Given the description of an element on the screen output the (x, y) to click on. 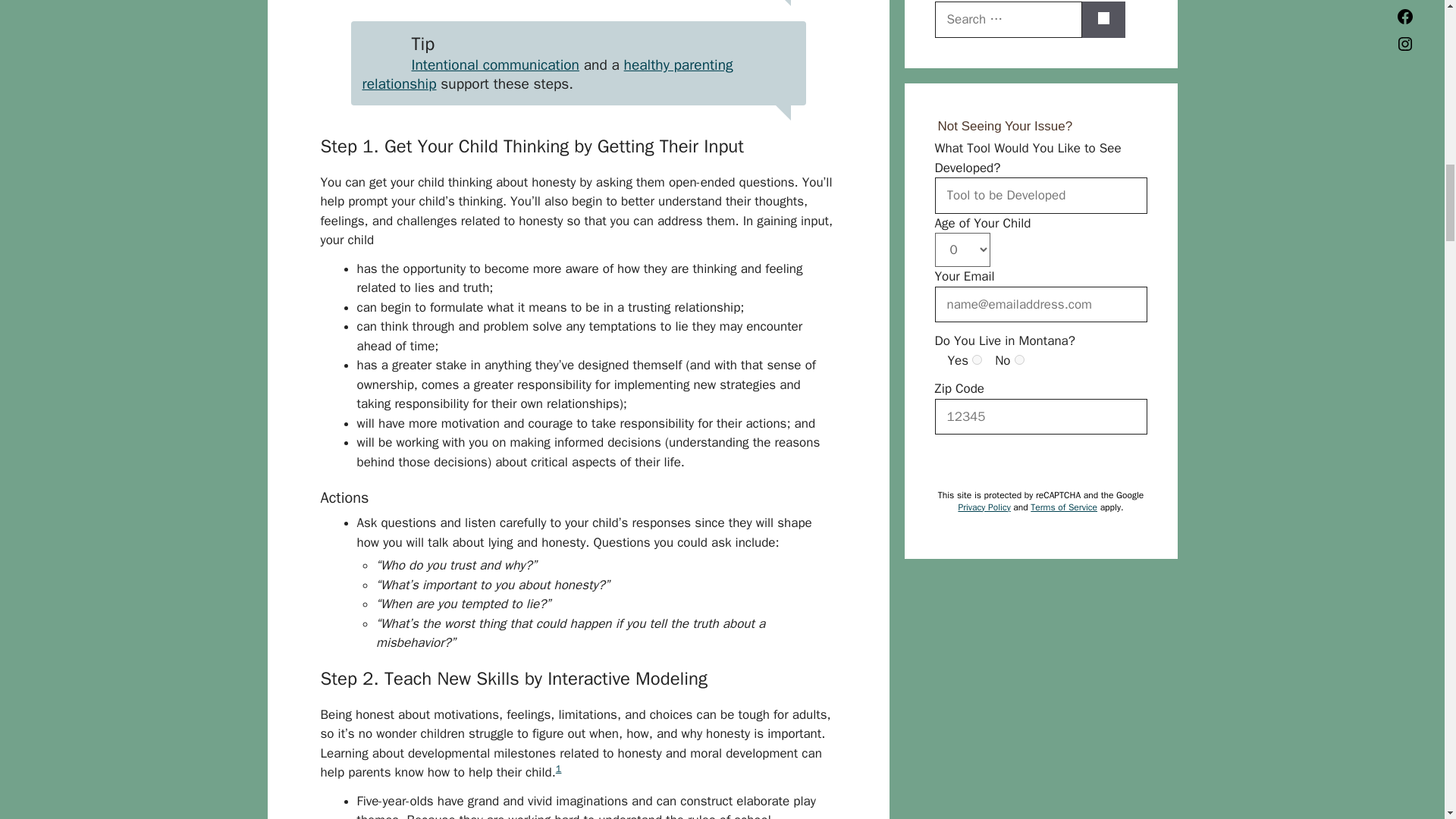
No (1019, 359)
Intentional communication (494, 65)
Send (964, 461)
Search for: (1007, 19)
healthy parenting relationship (547, 74)
Yes (976, 359)
